Given the description of an element on the screen output the (x, y) to click on. 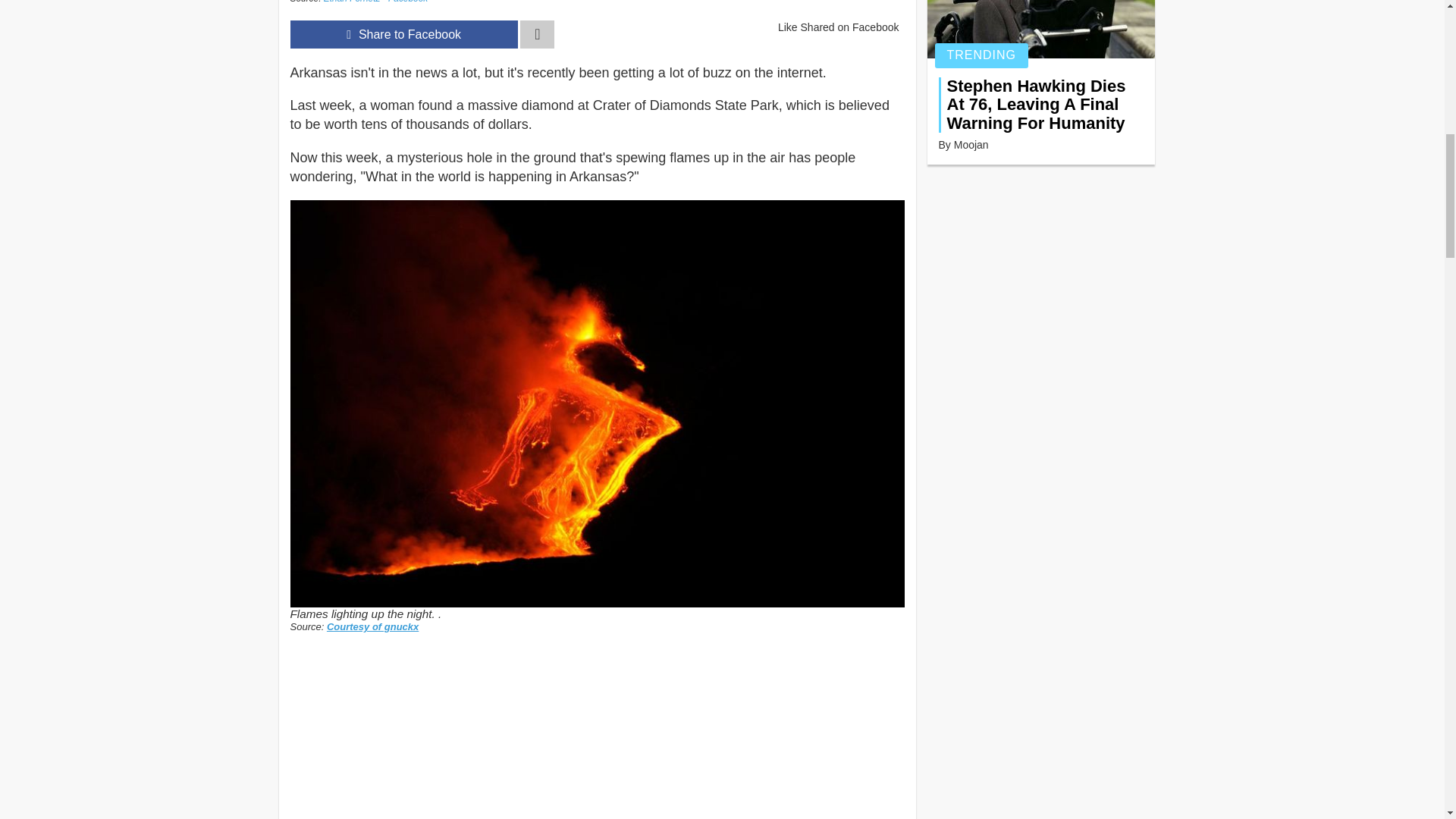
Ethan Forhetz - Facebook (375, 2)
Moojan's Profile (970, 144)
Courtesy of gnuckx (372, 626)
facebook (402, 34)
Toggle navigation (536, 34)
